Given the description of an element on the screen output the (x, y) to click on. 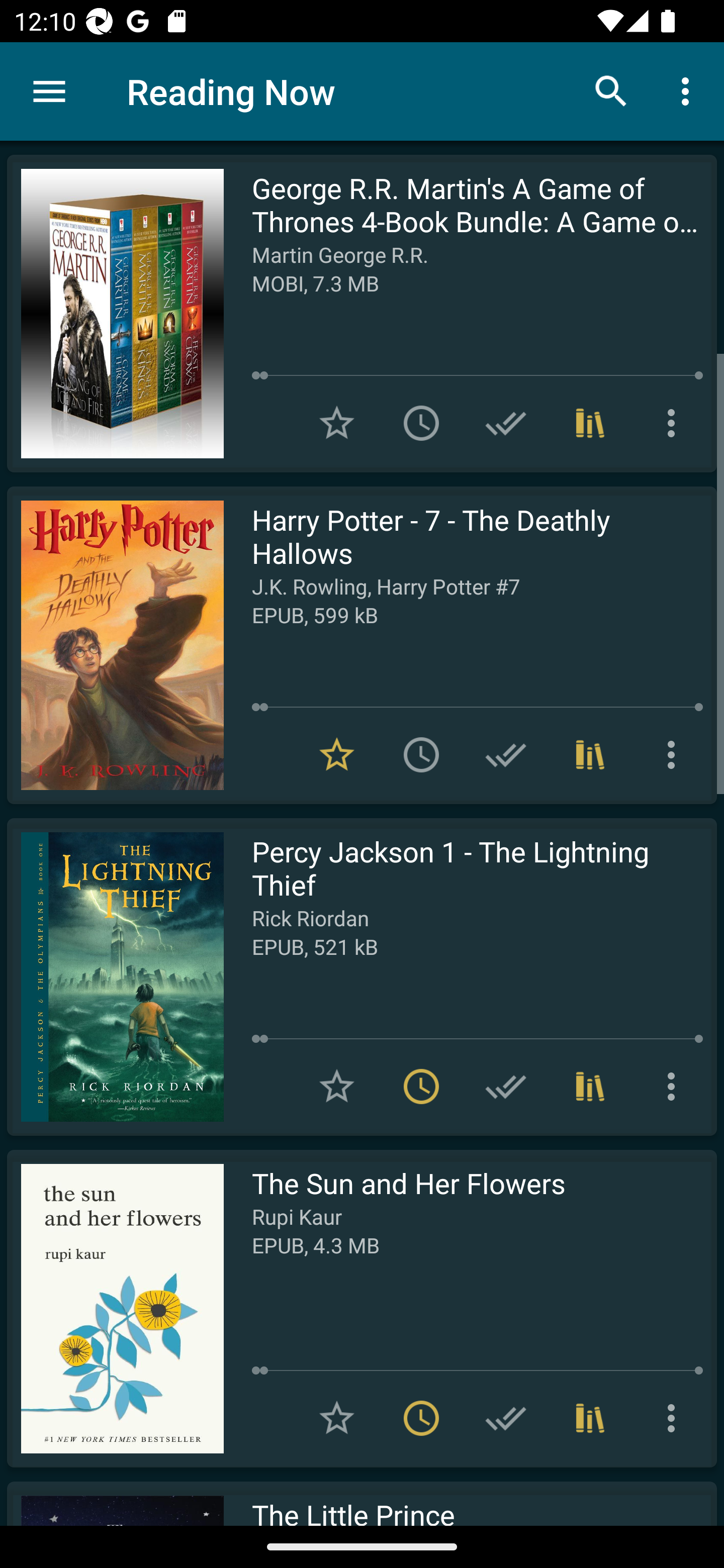
Menu (49, 91)
Search books & documents (611, 90)
More options (688, 90)
Add to Favorites (336, 423)
Add to To read (421, 423)
Add to Have read (505, 423)
Collections (1) (590, 423)
More options (674, 423)
Read Harry Potter - 7 - The Deathly Hallows (115, 645)
Remove from Favorites (336, 753)
Add to To read (421, 753)
Add to Have read (505, 753)
Collections (1) (590, 753)
More options (674, 753)
Read Percy Jackson 1 - The Lightning Thief (115, 976)
Add to Favorites (336, 1086)
Remove from To read (421, 1086)
Add to Have read (505, 1086)
Collections (1) (590, 1086)
More options (674, 1086)
Read The Sun and Her Flowers (115, 1308)
Add to Favorites (336, 1417)
Remove from To read (421, 1417)
Add to Have read (505, 1417)
Collections (1) (590, 1417)
More options (674, 1417)
